Given the description of an element on the screen output the (x, y) to click on. 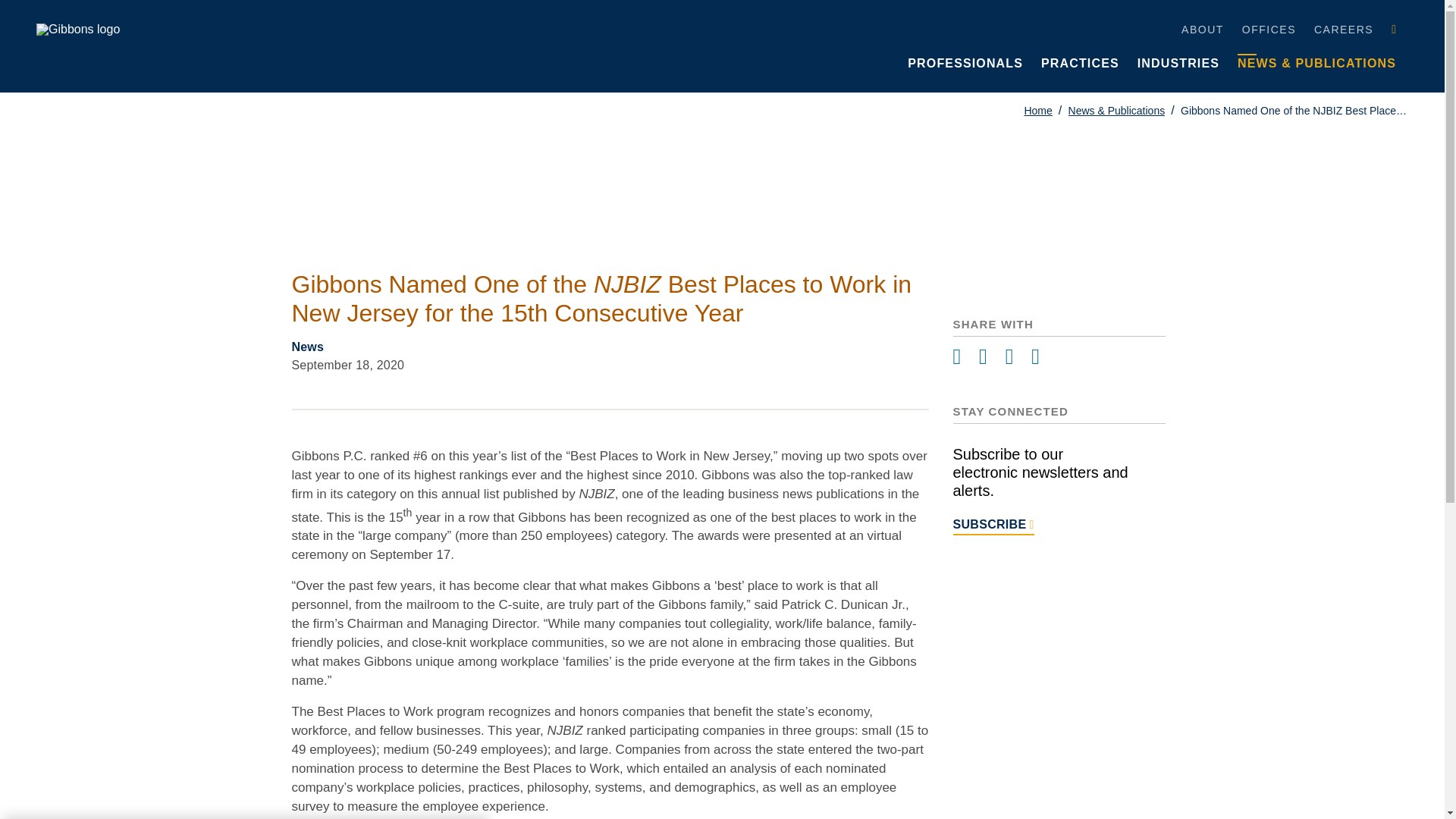
INDUSTRIES (1178, 61)
ABOUT (1202, 28)
Stay Connected (1058, 493)
PRACTICES (1080, 61)
Gibbons logo (77, 29)
Home (1037, 110)
Home (1037, 110)
Share With (1058, 357)
PROFESSIONALS (965, 61)
